Given the description of an element on the screen output the (x, y) to click on. 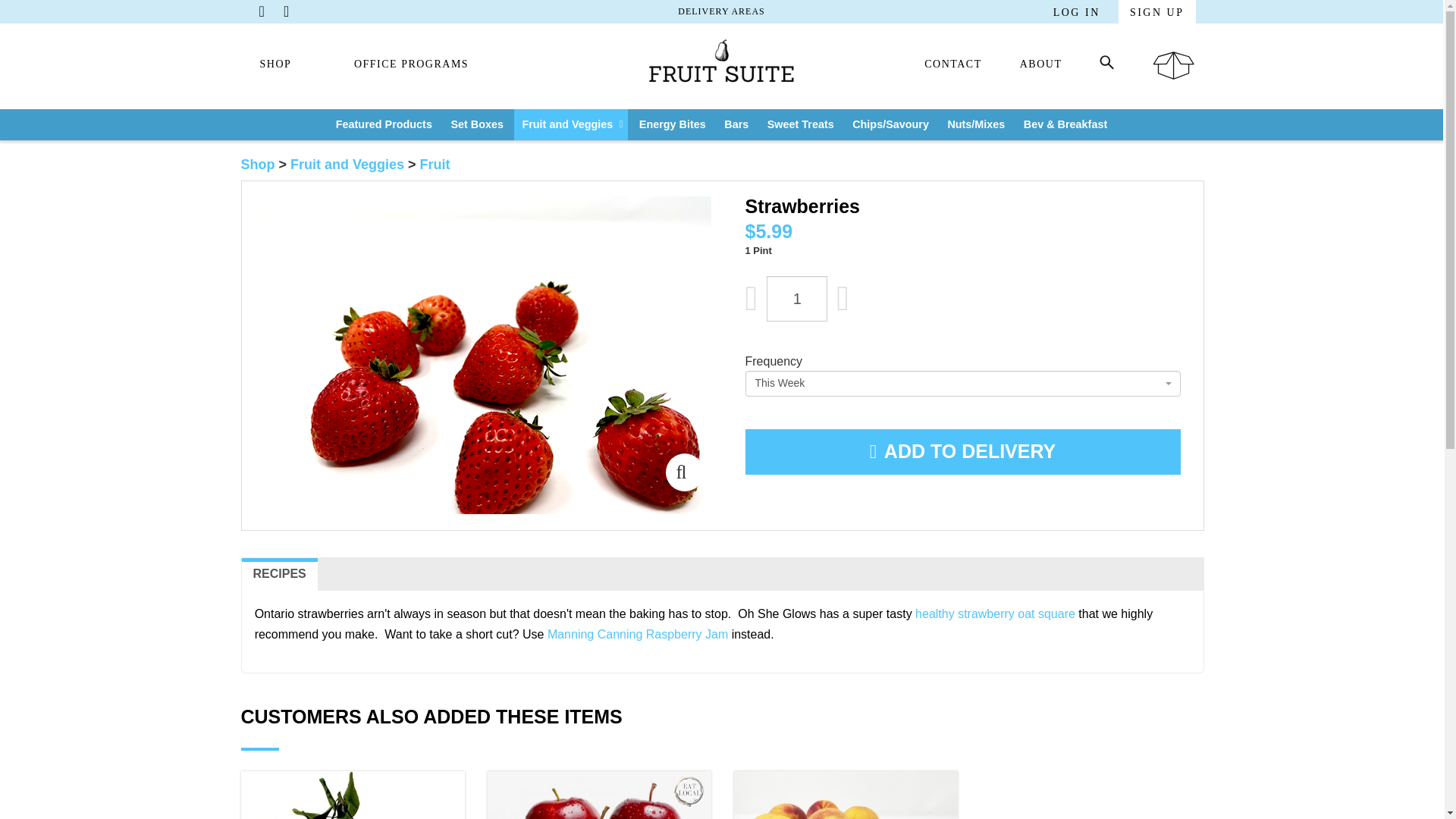
Sweet Treats (800, 124)
Featured Products (384, 124)
LOG IN (1076, 12)
ABOUT (1041, 65)
CONTACT (952, 65)
Fruit and Veggies (570, 124)
1 (797, 298)
This Week (958, 383)
SHOP (275, 65)
SIGN UP (1156, 13)
DELIVERY AREAS (721, 10)
Bars (735, 124)
Energy Bites (672, 124)
OFFICE PROGRAMS (410, 65)
Set Boxes (476, 124)
